Given the description of an element on the screen output the (x, y) to click on. 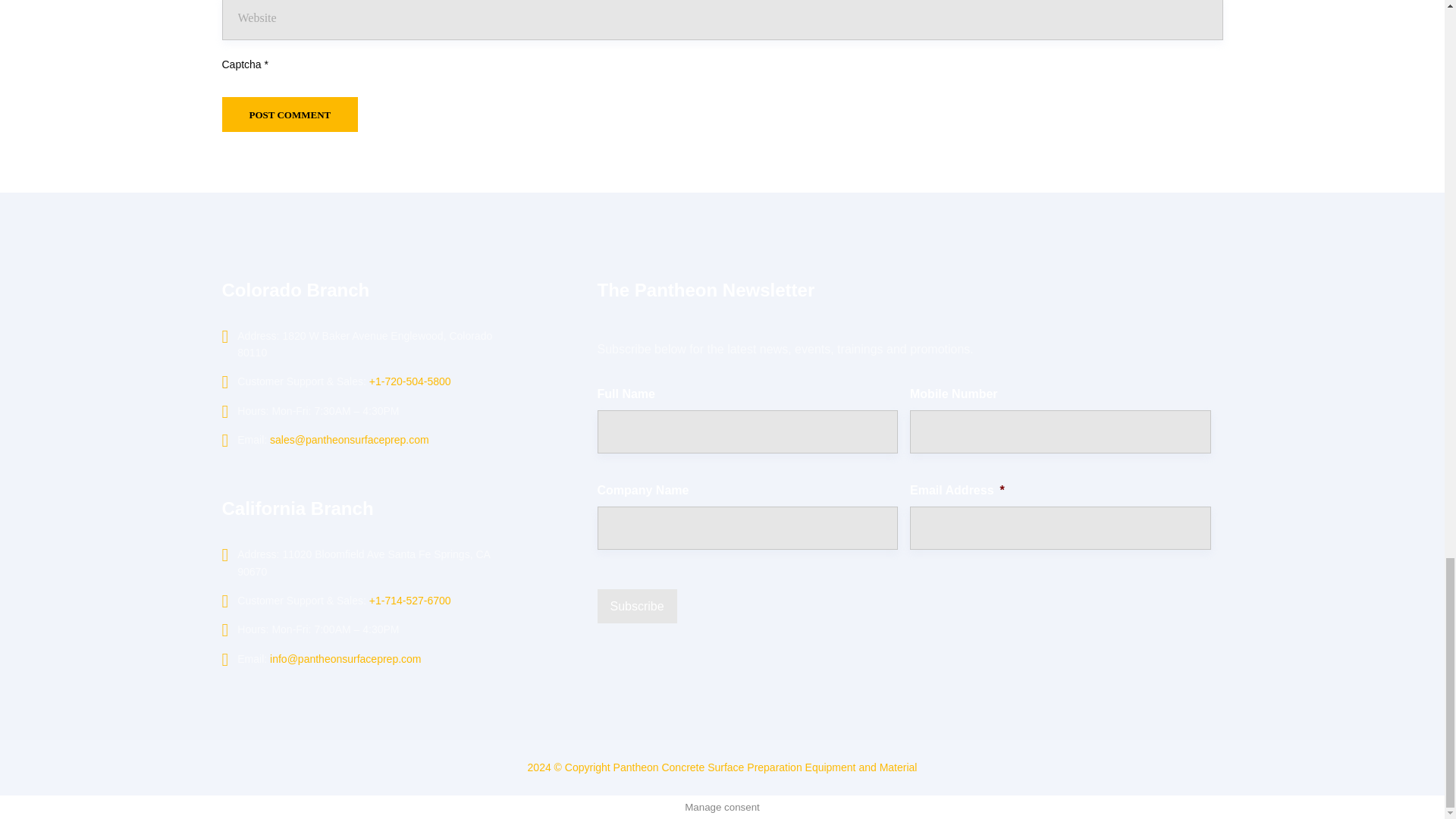
Subscribe (636, 605)
Post Comment (289, 114)
